Given the description of an element on the screen output the (x, y) to click on. 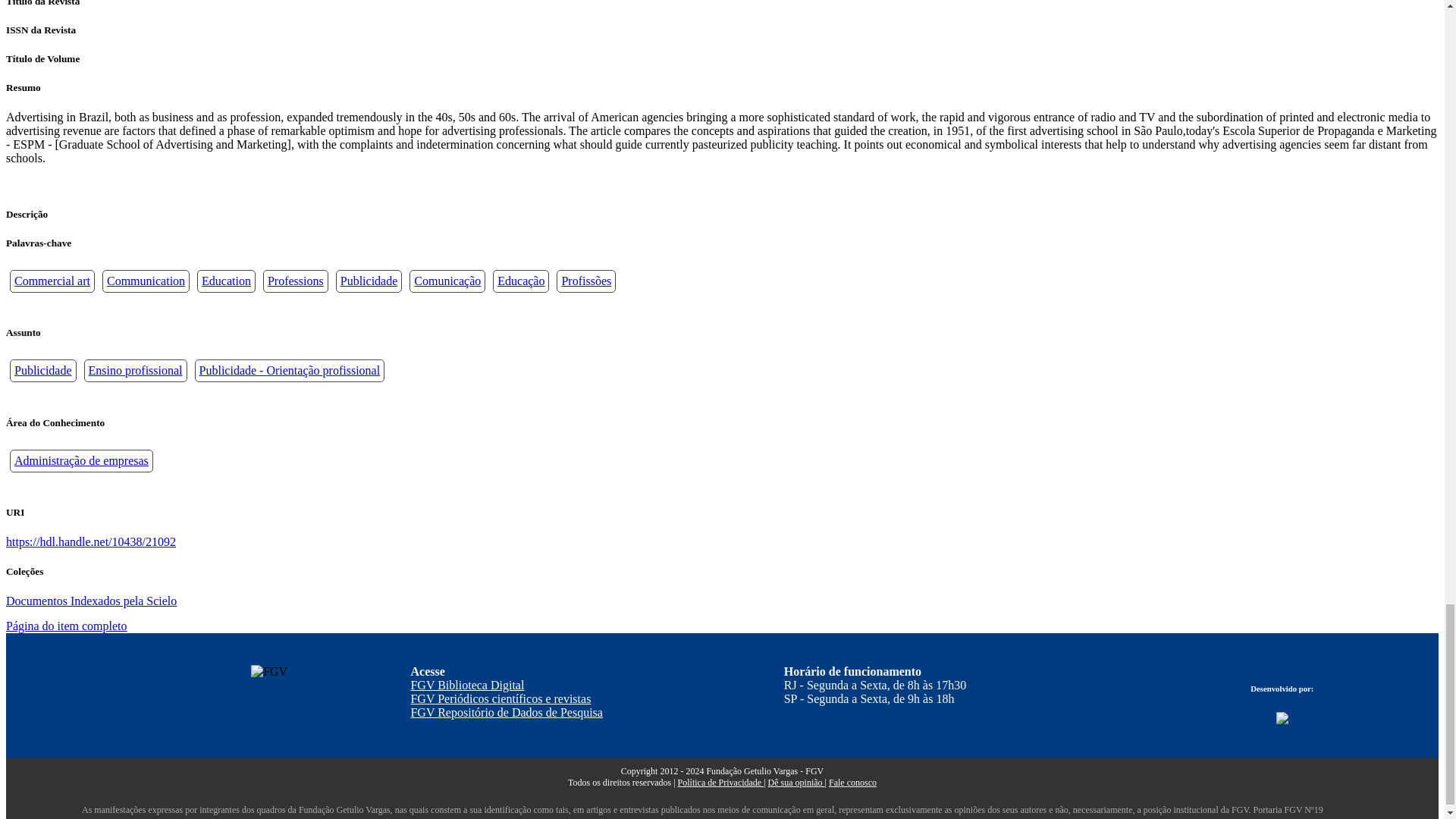
Communication (145, 280)
Publicidade (368, 280)
Commercial art (52, 280)
Education (226, 280)
Professions (295, 280)
